Given the description of an element on the screen output the (x, y) to click on. 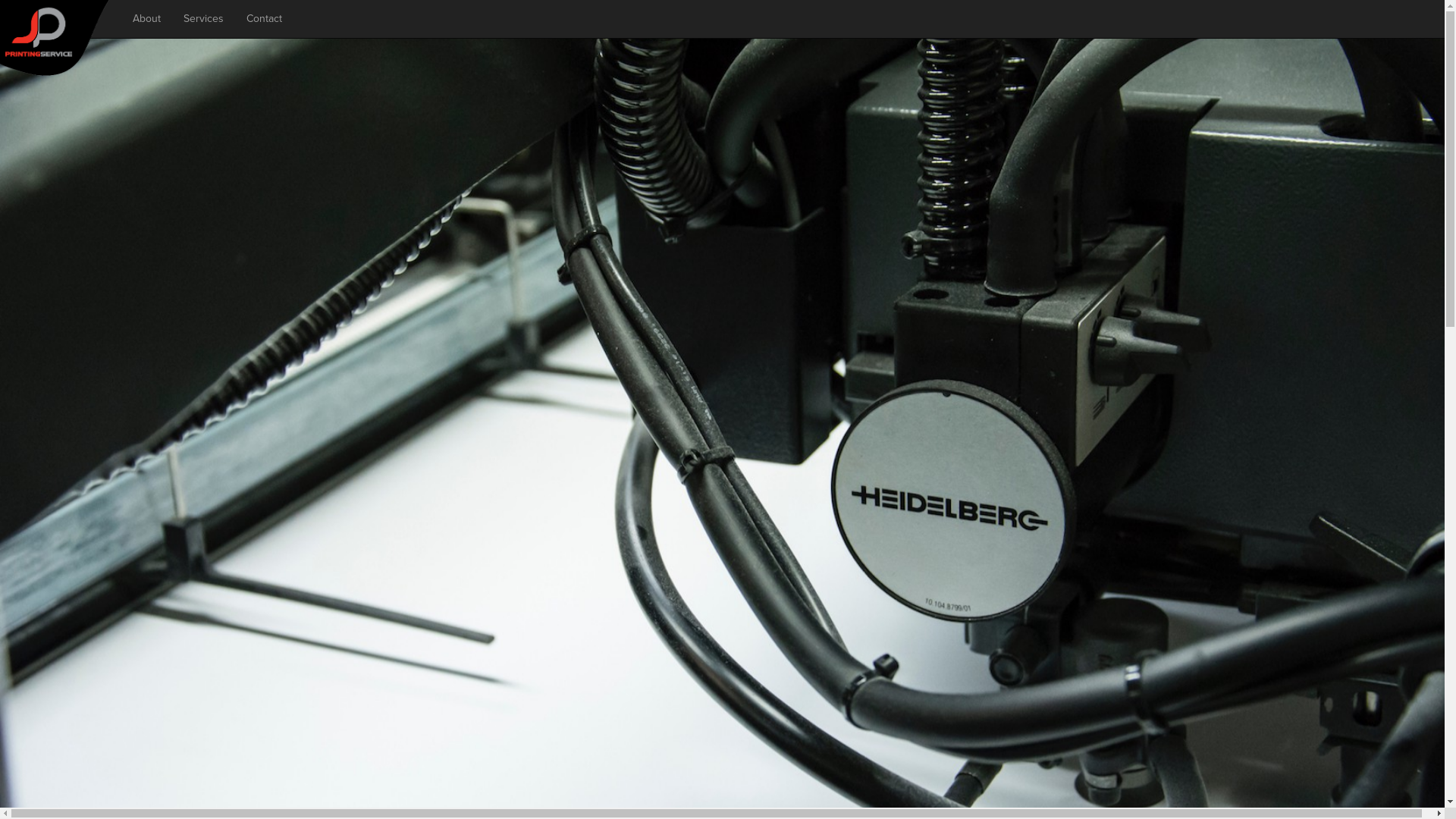
Services Element type: text (203, 18)
About Element type: text (146, 18)
Contact Element type: text (264, 18)
